Given the description of an element on the screen output the (x, y) to click on. 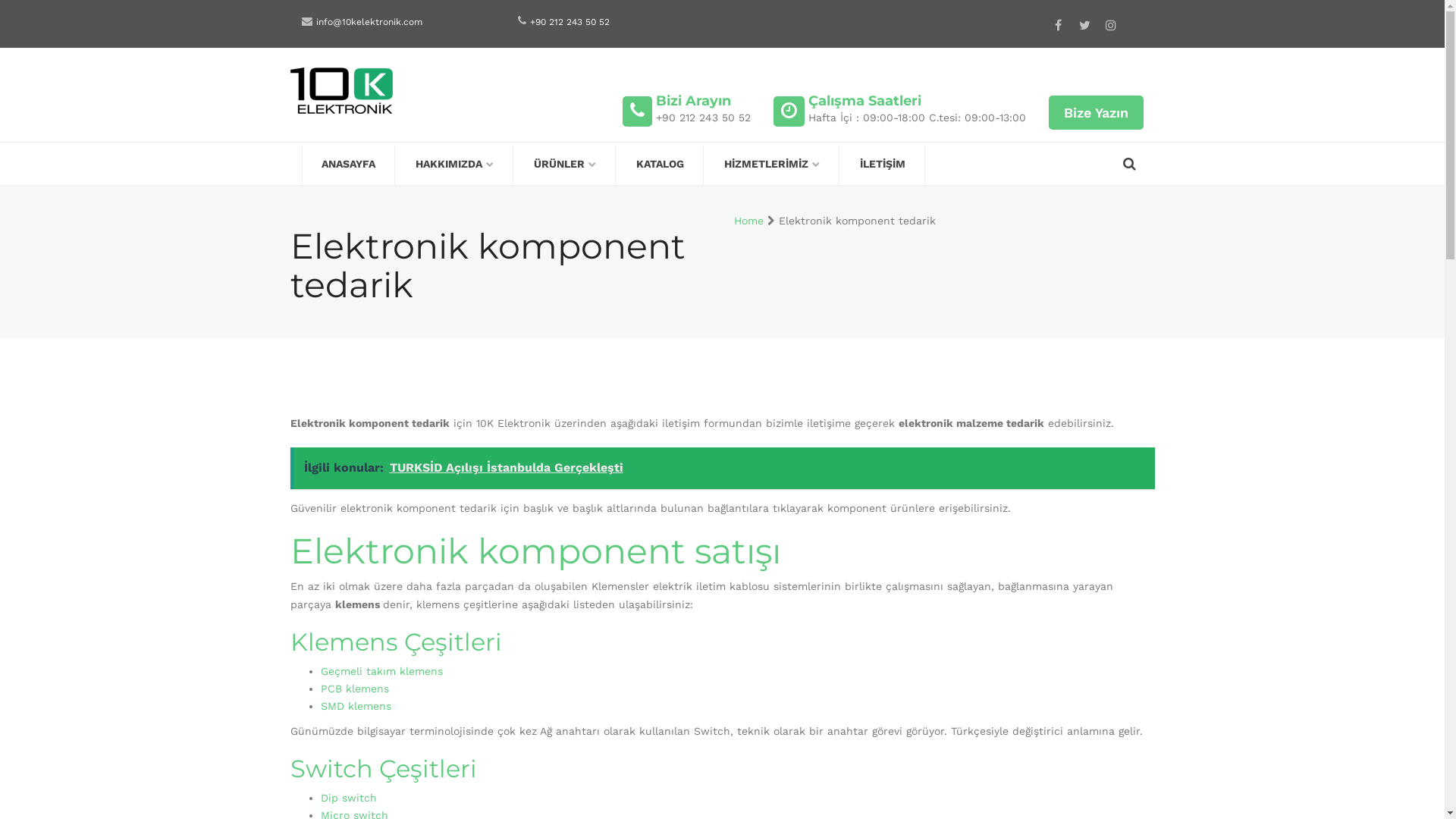
Instagram Element type: hover (1110, 24)
Twitter Element type: hover (1084, 24)
HAKKIMIZDA Element type: text (454, 164)
HIZMETLERIMIZ Element type: text (770, 164)
info@10kelektronik.com Element type: text (368, 21)
Home Element type: text (748, 220)
Dip switch Element type: text (348, 797)
ANASAYFA Element type: text (347, 164)
KATALOG Element type: text (658, 164)
Facebook Element type: hover (1057, 24)
SMD klemens Element type: text (355, 705)
PCB klemens Element type: text (354, 688)
